Given the description of an element on the screen output the (x, y) to click on. 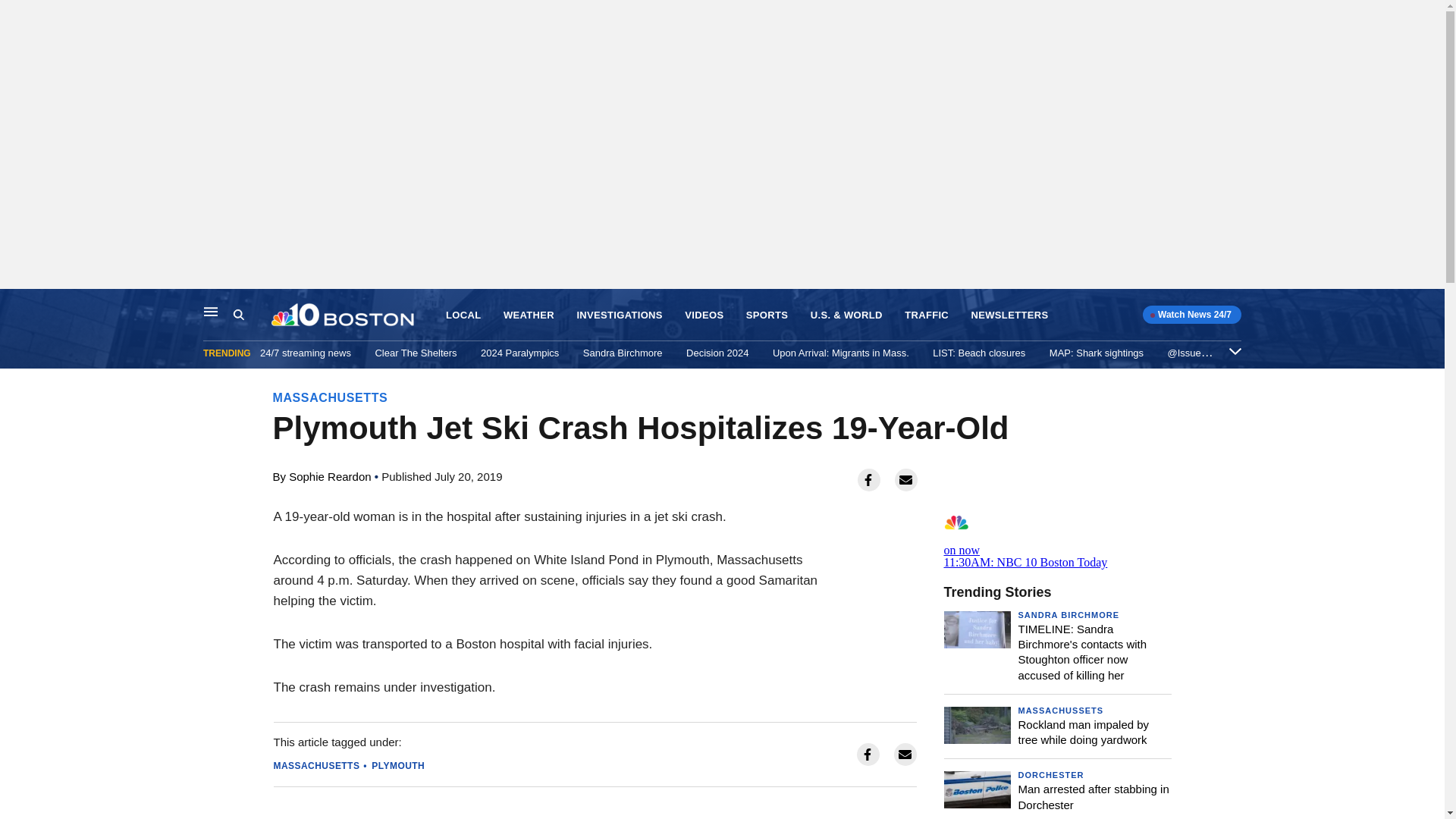
SPORTS (766, 315)
Sandra Birchmore (622, 352)
Clear The Shelters (415, 352)
VIDEOS (703, 315)
Search (252, 314)
MASSACHUSSETS (1060, 709)
2024 Paralympics (519, 352)
PLYMOUTH (398, 765)
Expand (1234, 350)
Decision 2024 (716, 352)
